Given the description of an element on the screen output the (x, y) to click on. 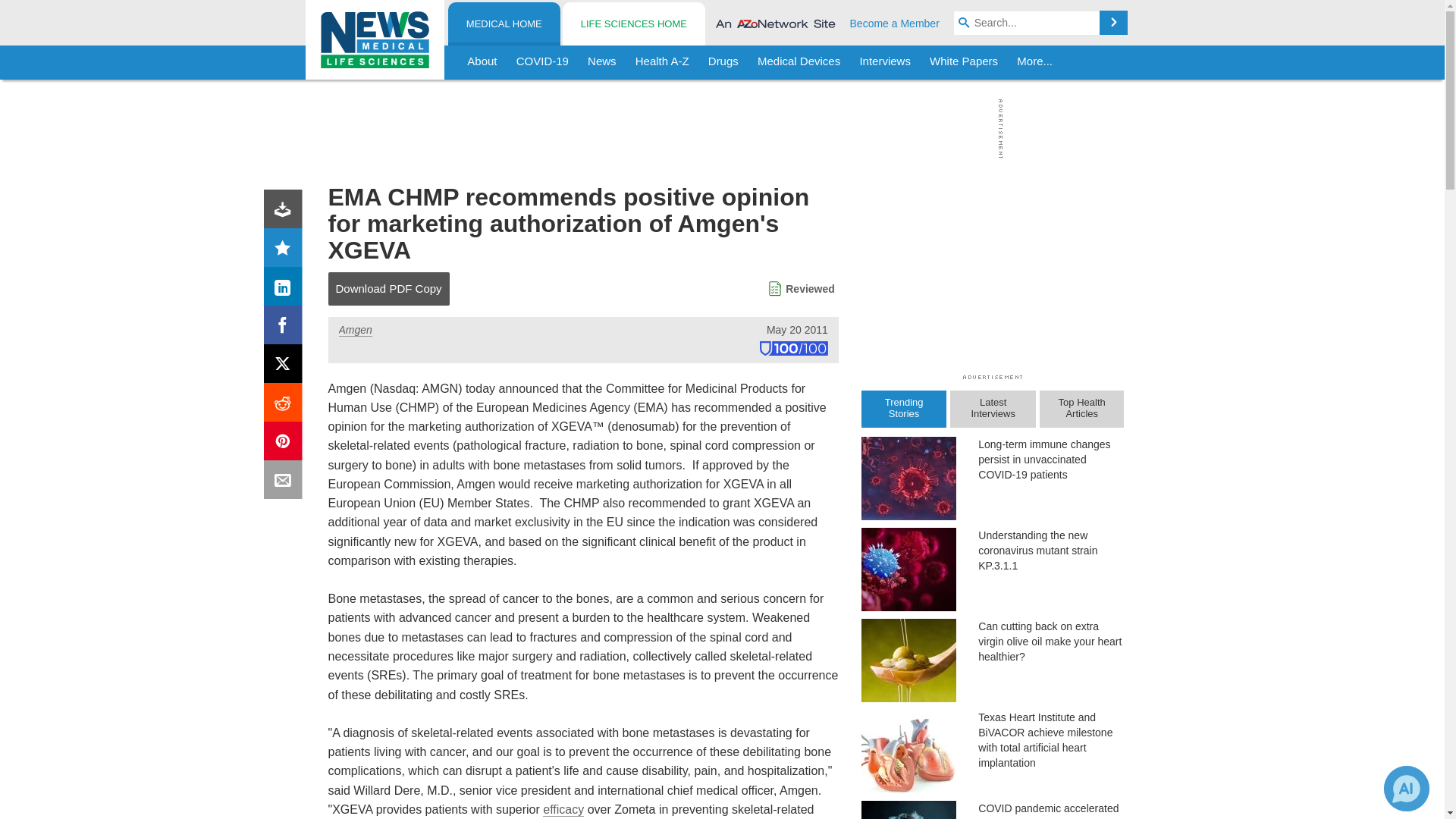
Reddit (285, 405)
Download PDF copy (285, 212)
Medical Devices (798, 62)
More... (1035, 62)
White Papers (963, 62)
About (482, 62)
MEDICAL HOME (504, 23)
Interviews (884, 62)
Become a Member (894, 22)
Rating (285, 250)
Facebook (285, 328)
X (285, 366)
Health A-Z (662, 62)
LinkedIn (285, 289)
